Given the description of an element on the screen output the (x, y) to click on. 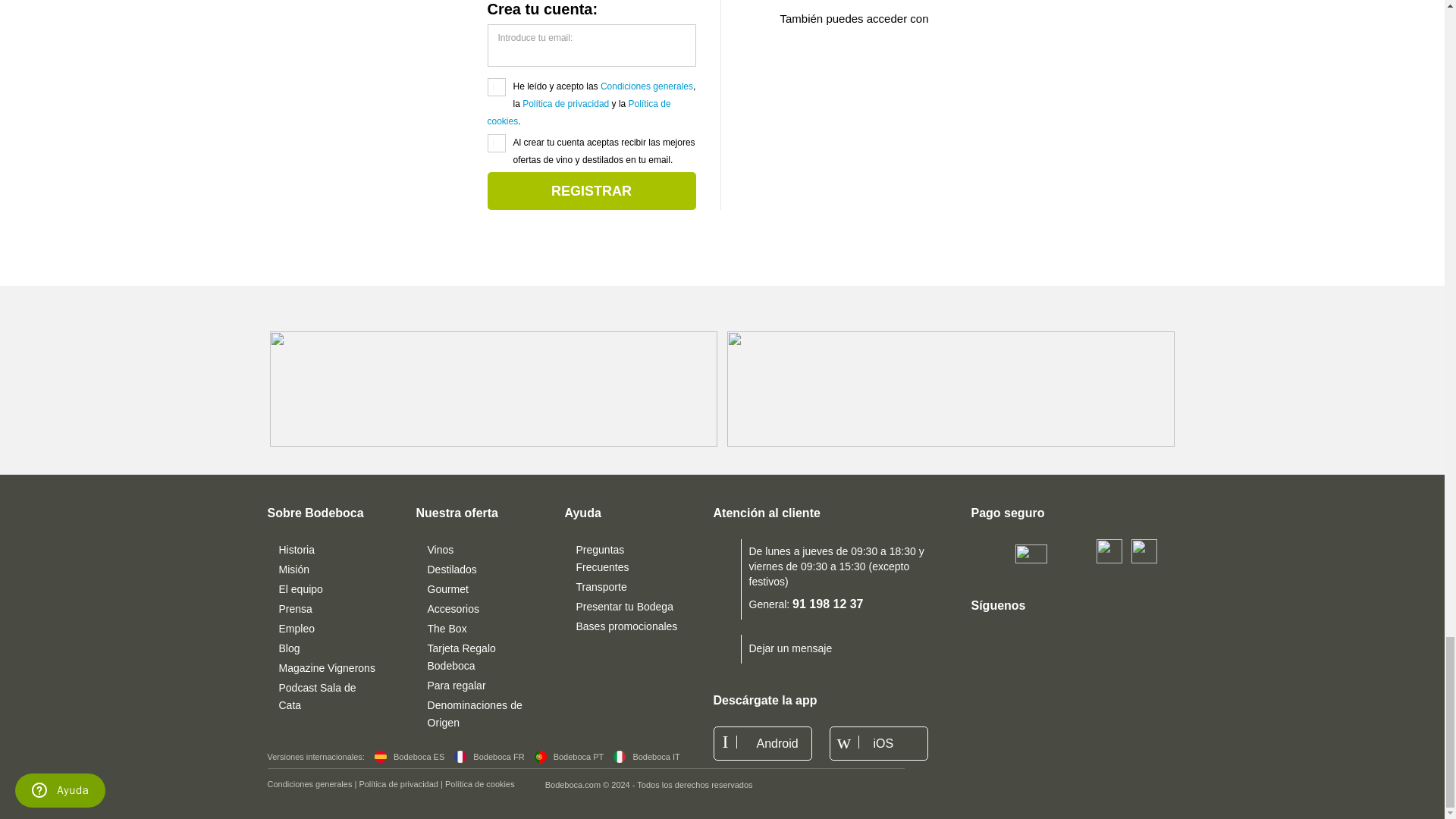
1 (495, 143)
1 (495, 86)
Registrar (590, 190)
